Given the description of an element on the screen output the (x, y) to click on. 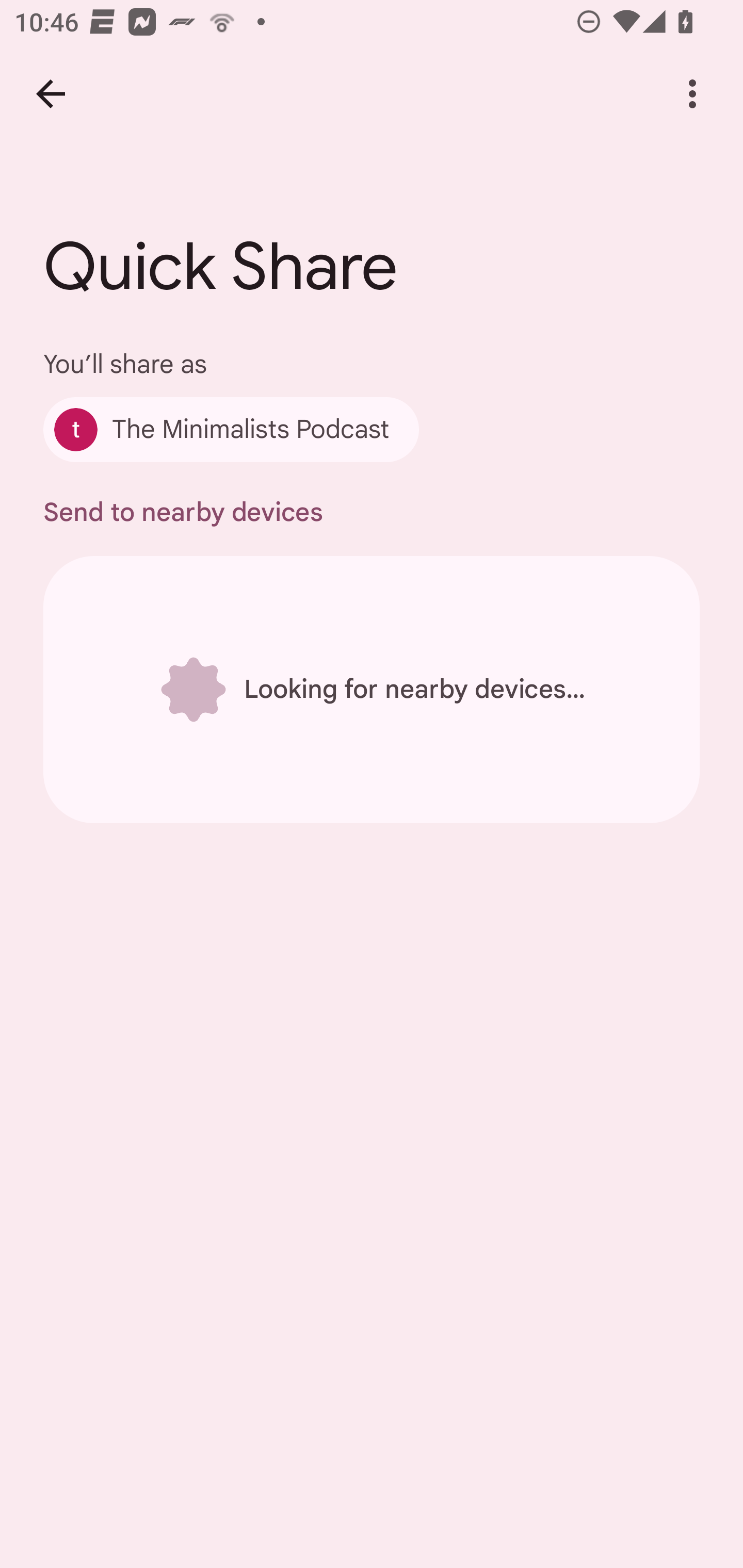
Back (50, 93)
More (692, 93)
The Minimalists Podcast (231, 429)
